Given the description of an element on the screen output the (x, y) to click on. 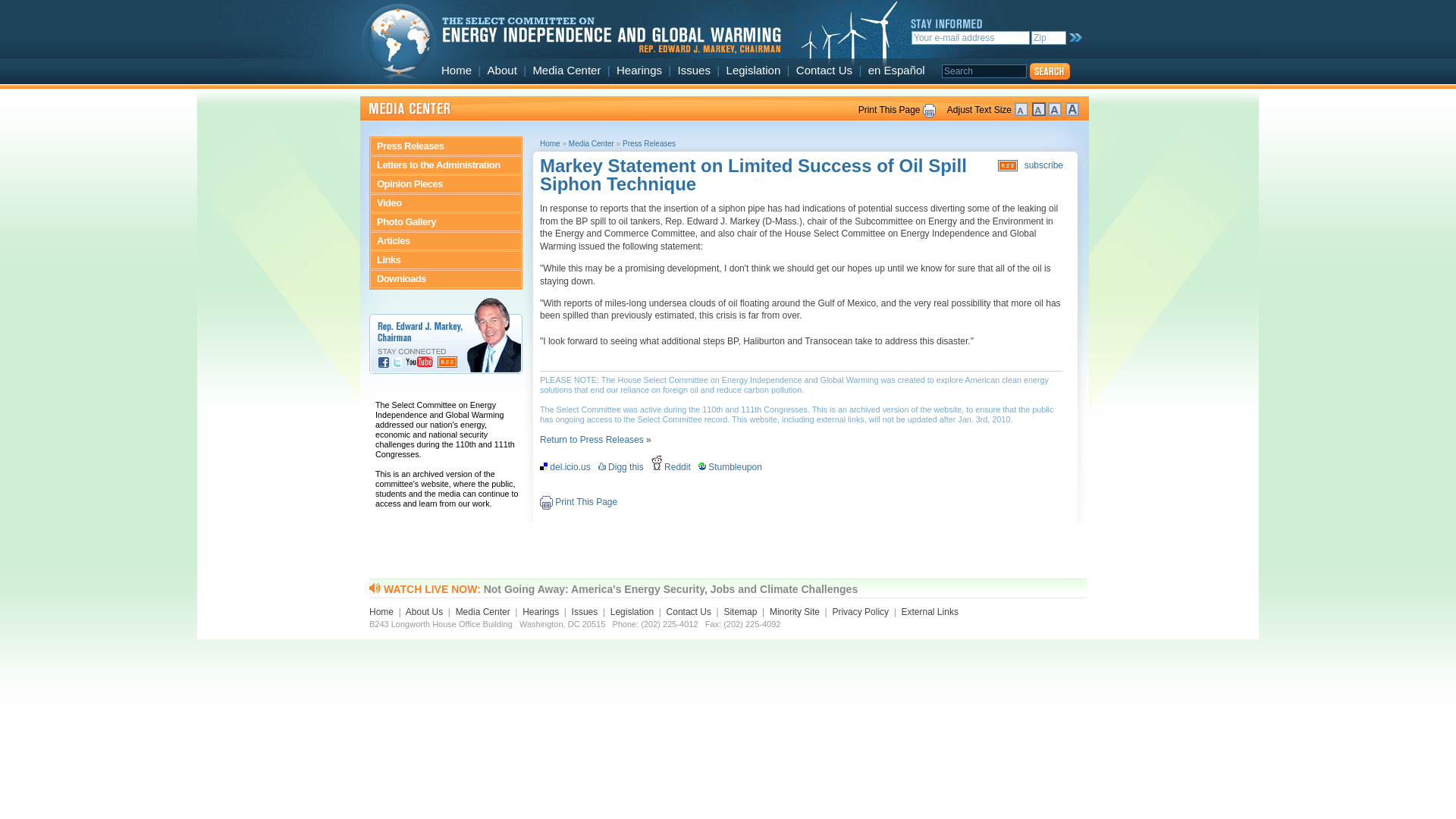
SEARCH (1074, 37)
Stumbleupon (732, 466)
Add to your del.icio.us account (567, 466)
SEARCH (1048, 71)
Search (984, 70)
Zip (1047, 38)
Digg this story (623, 466)
Submit to Reddit (672, 466)
Your e-mail address (970, 38)
Zip (1047, 38)
Your e-mail address (970, 38)
Search (984, 70)
